Given the description of an element on the screen output the (x, y) to click on. 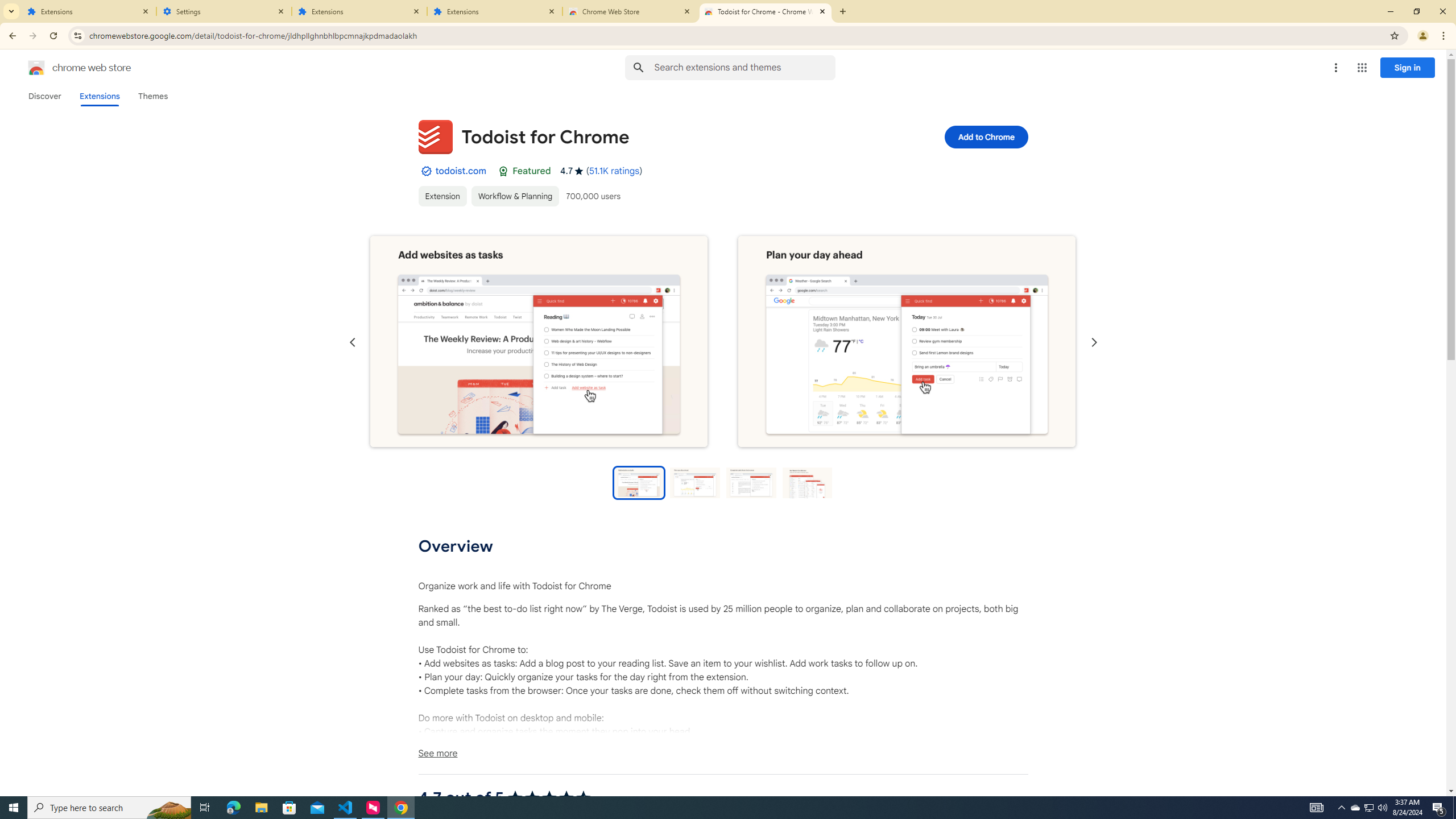
Chrome Web Store logo (36, 67)
Chrome Web Store logo chrome web store (67, 67)
Preview slide 3 (751, 482)
Extensions (494, 11)
Extensions (88, 11)
Item logo image for Todoist for Chrome Todoist for Chrome (645, 136)
Item logo image for Todoist for Chrome (434, 136)
Featured Badge (503, 170)
51.1K ratings (614, 170)
